Given the description of an element on the screen output the (x, y) to click on. 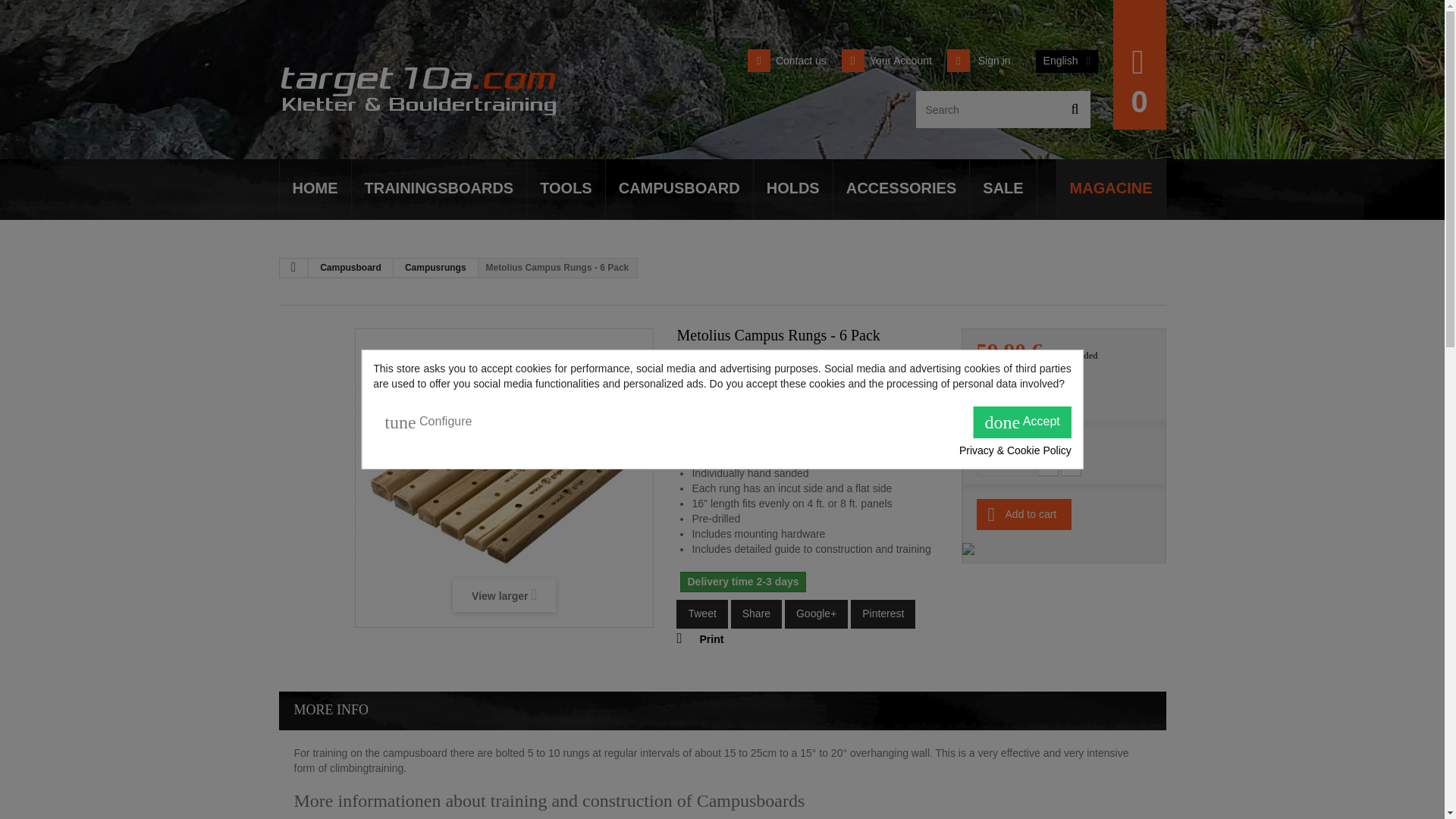
Contact us (787, 60)
Return to Home (293, 268)
target10a.com (418, 78)
Log in to your customer account (978, 60)
Campusboard (350, 267)
View my customer account (886, 60)
Sign in (978, 60)
Your Account (886, 60)
1 (1005, 465)
Contact us (787, 60)
HOME (314, 189)
TRAININGSBOARDS (439, 189)
TOOLS (566, 189)
